Given the description of an element on the screen output the (x, y) to click on. 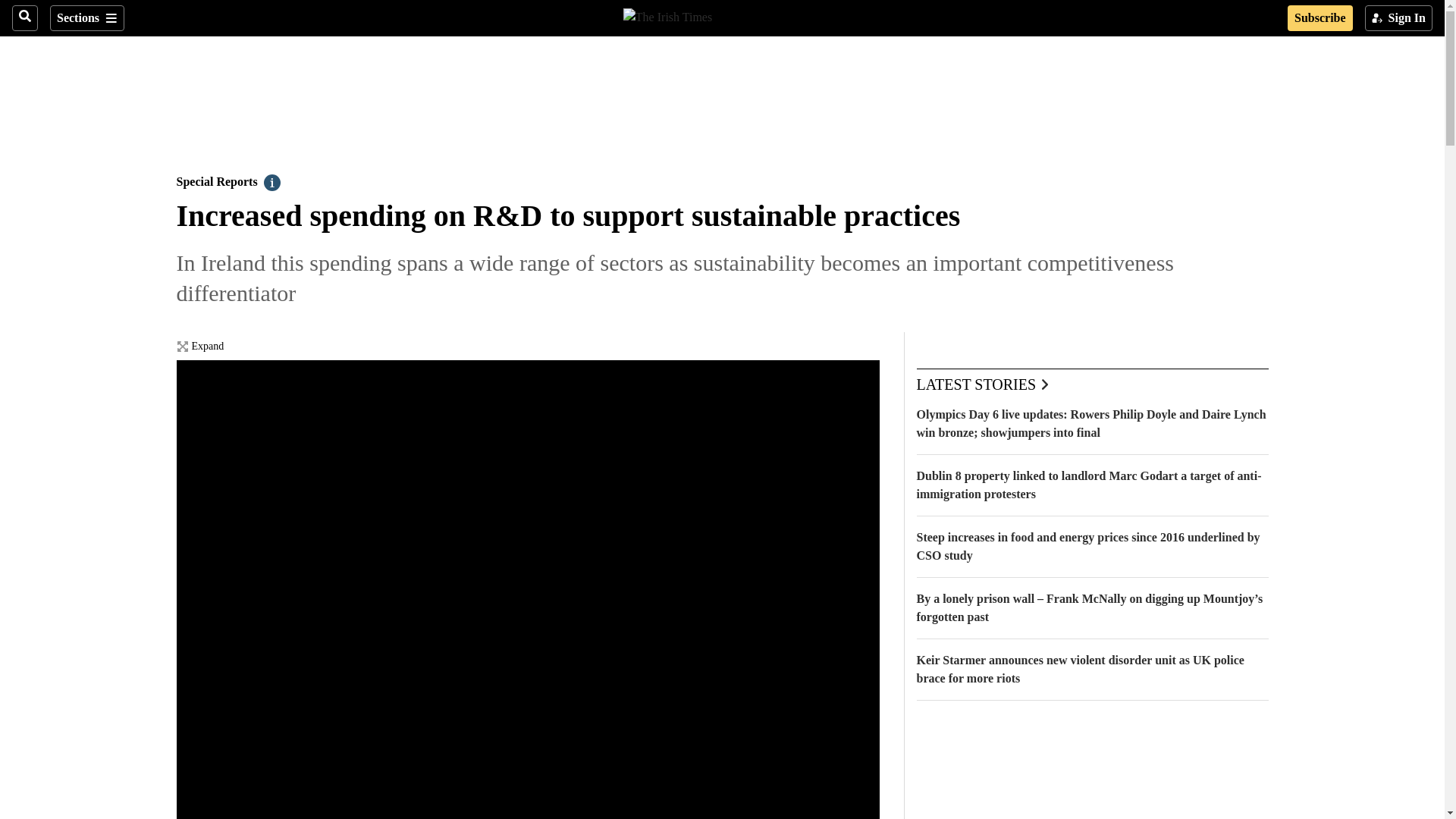
Sign In (1398, 17)
Subscribe (1319, 17)
Sections (86, 17)
The Irish Times (667, 15)
